Given the description of an element on the screen output the (x, y) to click on. 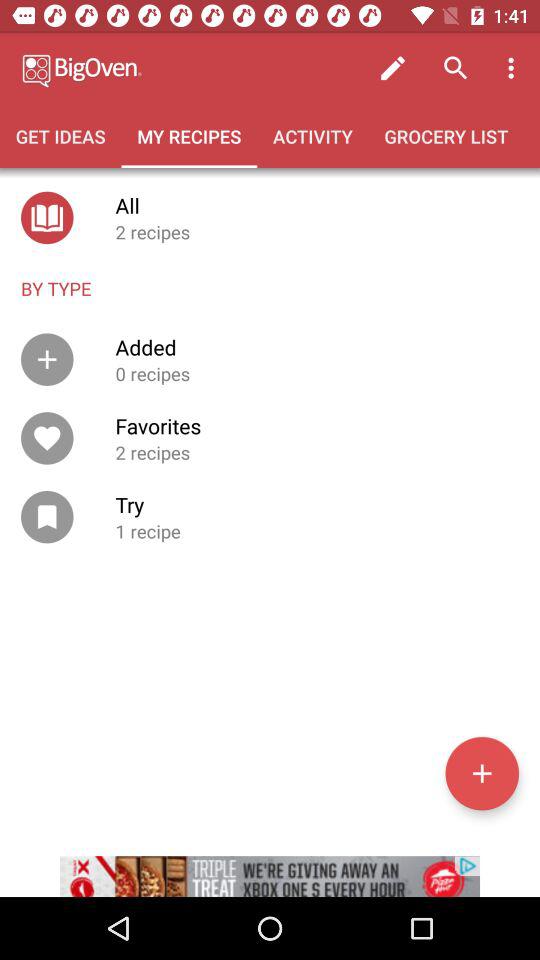
add page (482, 773)
